Given the description of an element on the screen output the (x, y) to click on. 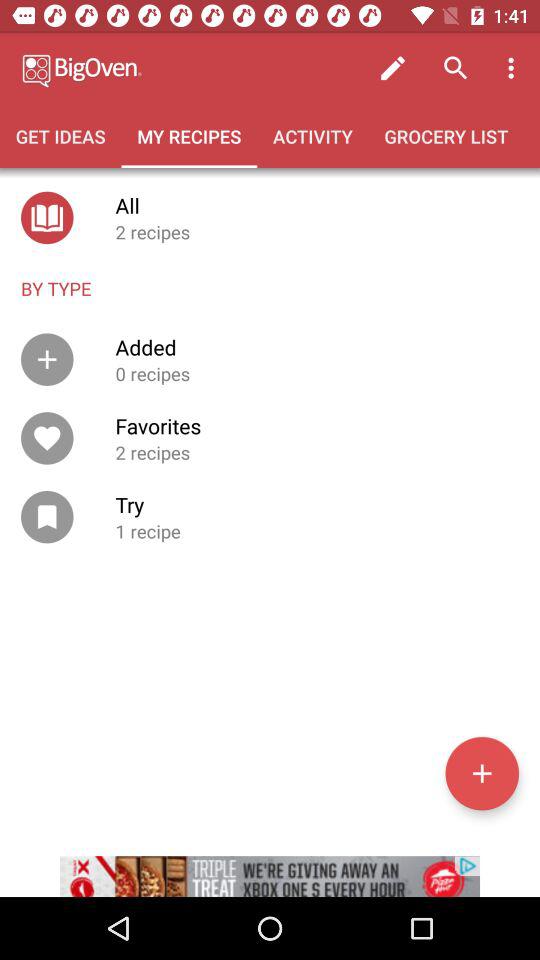
add page (482, 773)
